Given the description of an element on the screen output the (x, y) to click on. 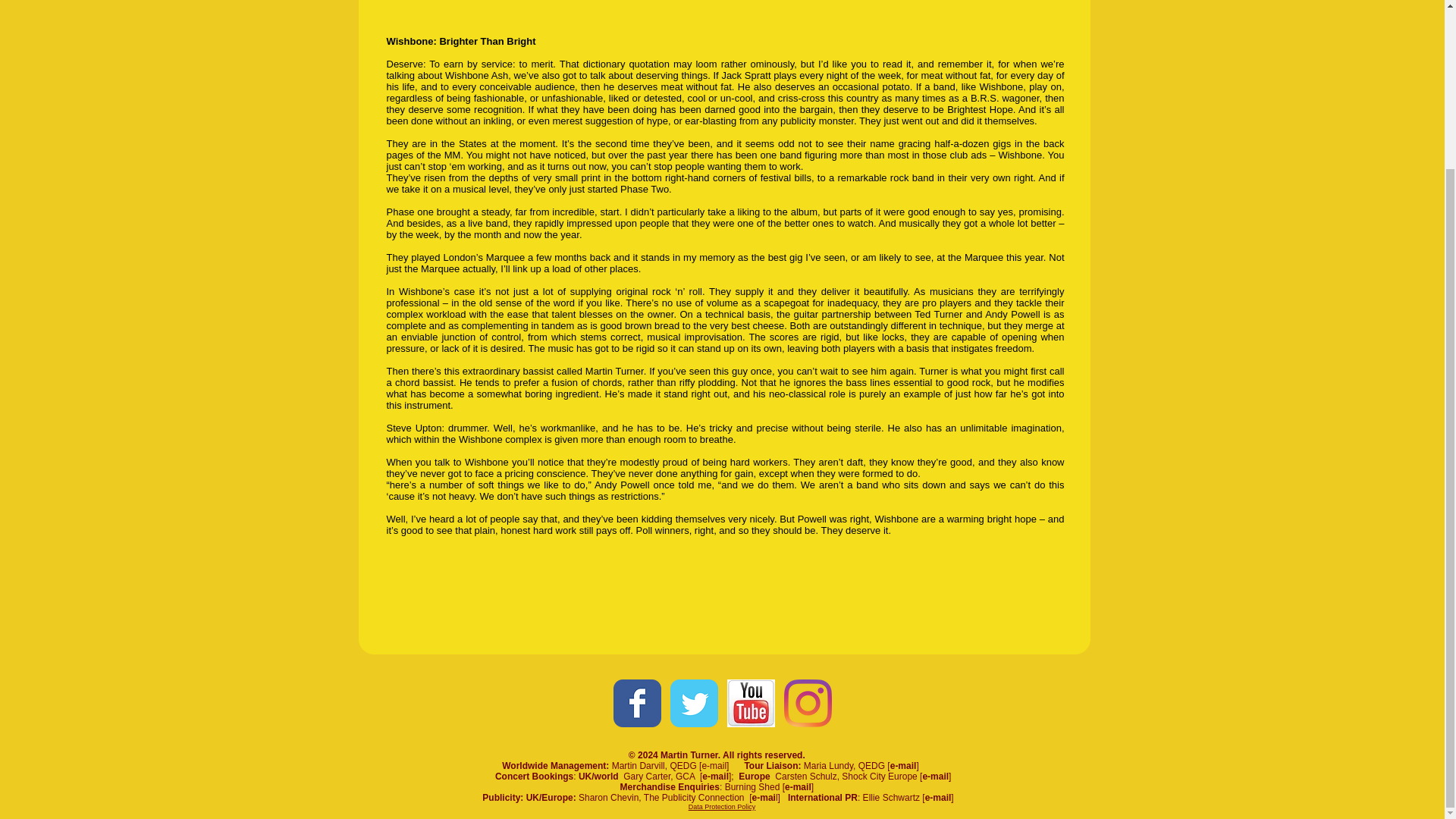
e-mail (713, 765)
